Given the description of an element on the screen output the (x, y) to click on. 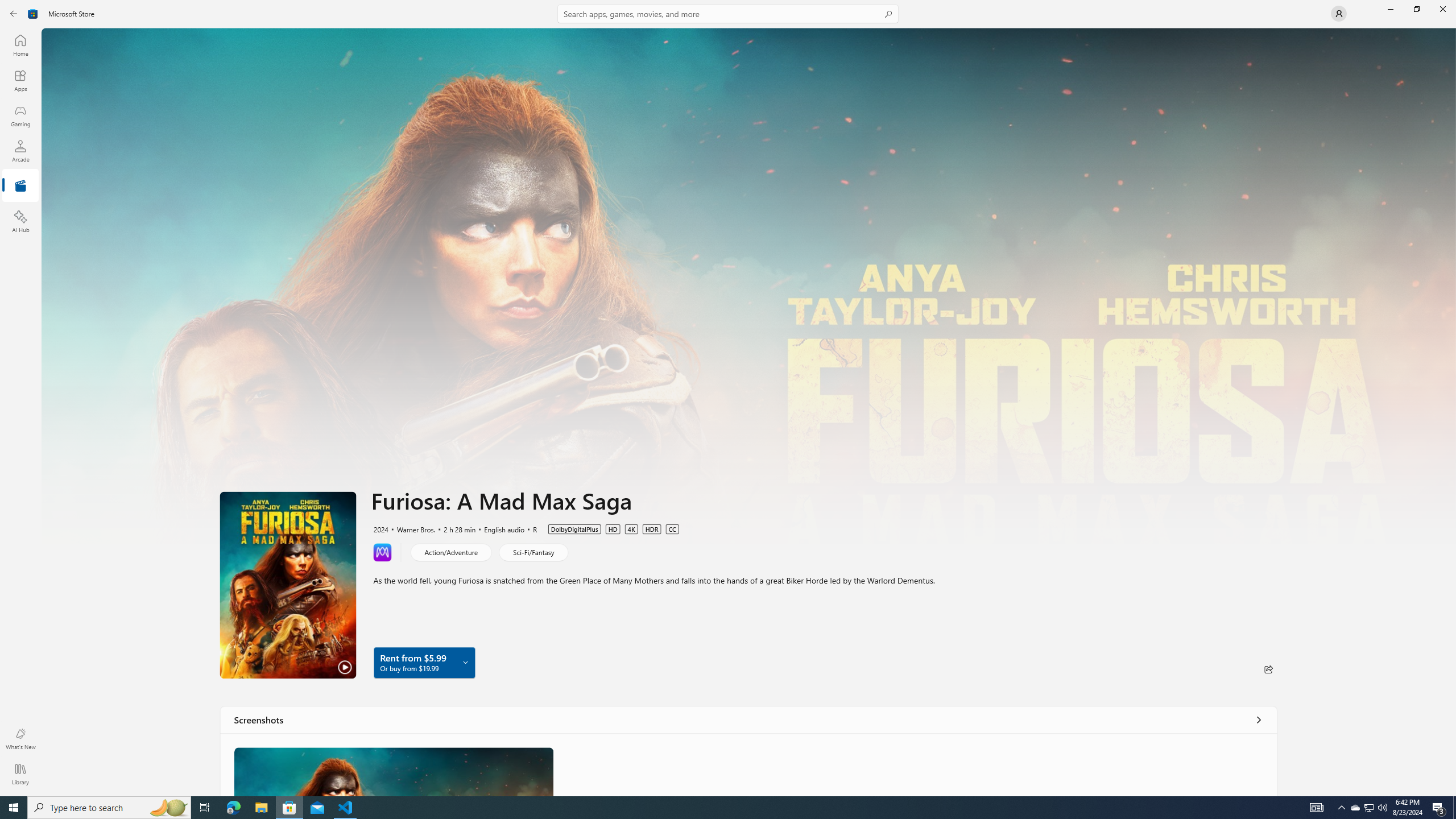
See all (1258, 719)
AutomationID: NavigationControl (728, 398)
Share (1267, 669)
Warner Bros. (410, 528)
Back (13, 13)
Learn more about Movies Anywhere (381, 551)
Play Trailer (287, 584)
R (529, 528)
Rent from $5.99 Or buy from $19.99 (424, 662)
